Given the description of an element on the screen output the (x, y) to click on. 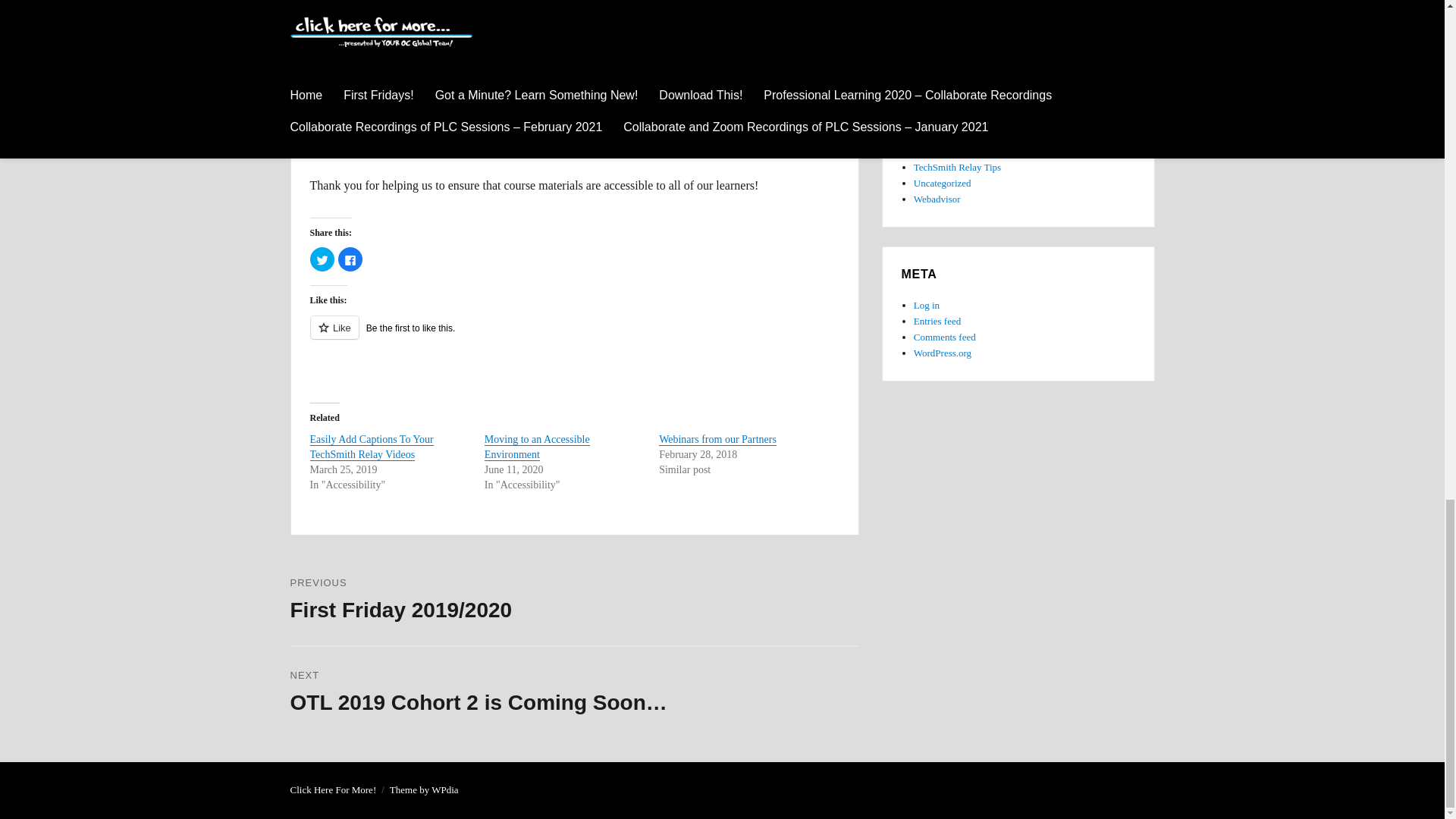
Info about TechSmith Relay (957, 166)
Click to share on Facebook (349, 259)
Click to share on Twitter (320, 259)
Easily Add Captions To Your TechSmith Relay Videos (370, 447)
Multimedia tools (949, 55)
Webinars from our Partners (717, 439)
Tips for Respondus LockDown Browser, Respondus Monitor (945, 134)
Moving to an Accessible Environment (536, 447)
